Given the description of an element on the screen output the (x, y) to click on. 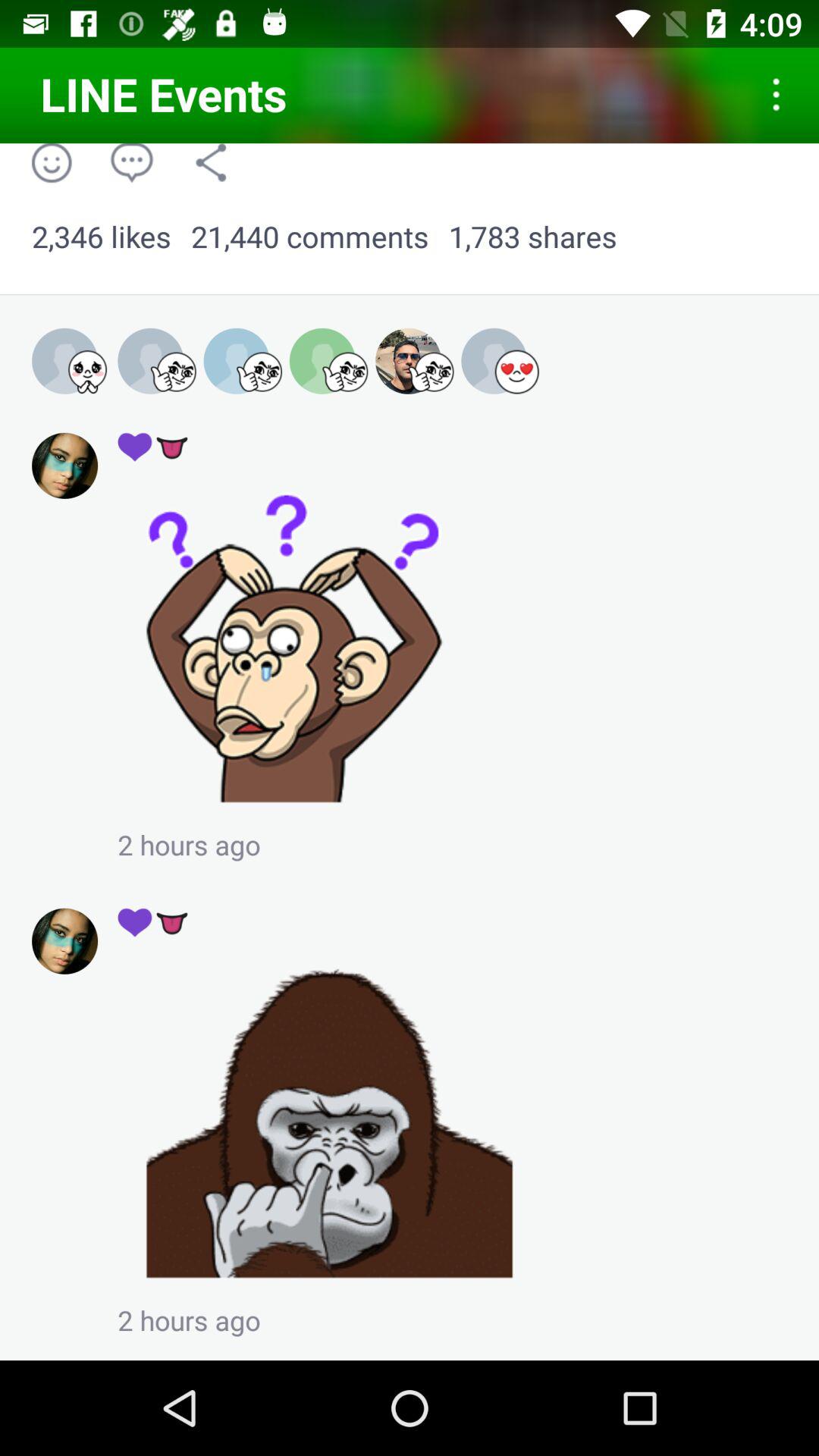
click icon next to 2,346 likes item (309, 237)
